Given the description of an element on the screen output the (x, y) to click on. 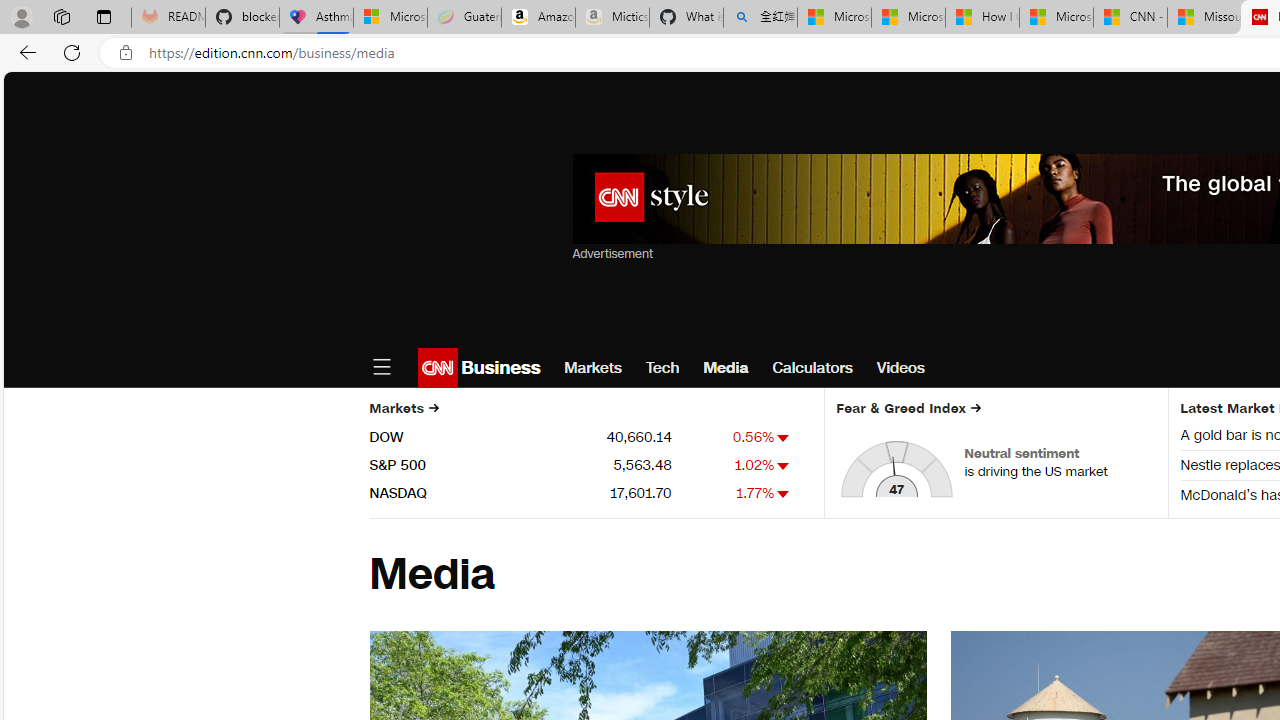
Media (725, 367)
